Given the description of an element on the screen output the (x, y) to click on. 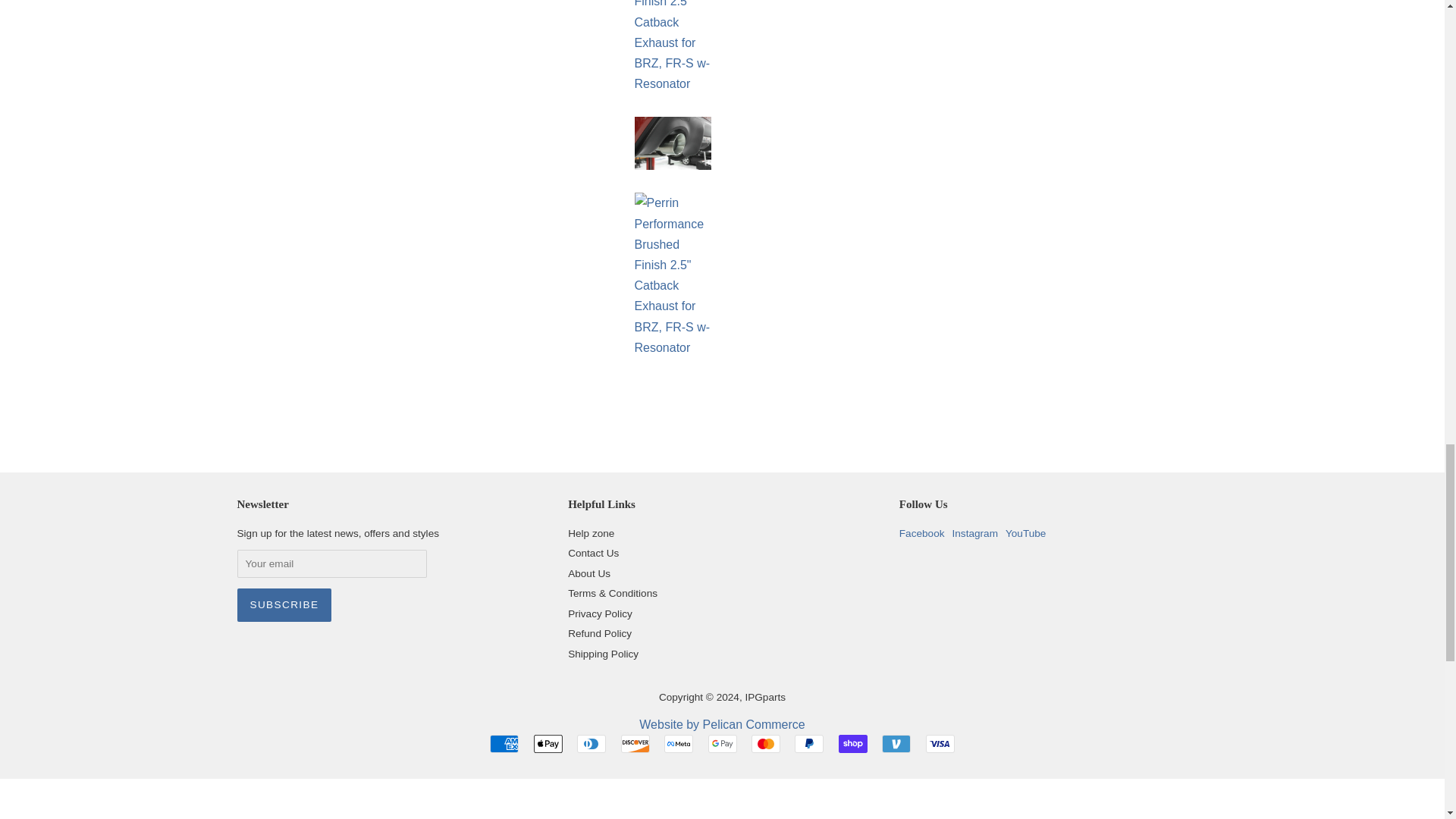
Discover (635, 743)
Subscribe (283, 604)
American Express (503, 743)
Venmo (896, 743)
IPGparts on Facebook (921, 532)
IPGparts on YouTube (1025, 532)
Diners Club (590, 743)
Shop Pay (852, 743)
Apple Pay (548, 743)
Meta Pay (678, 743)
Google Pay (721, 743)
Mastercard (765, 743)
PayPal (809, 743)
Visa (940, 743)
IPGparts on Instagram (974, 532)
